Given the description of an element on the screen output the (x, y) to click on. 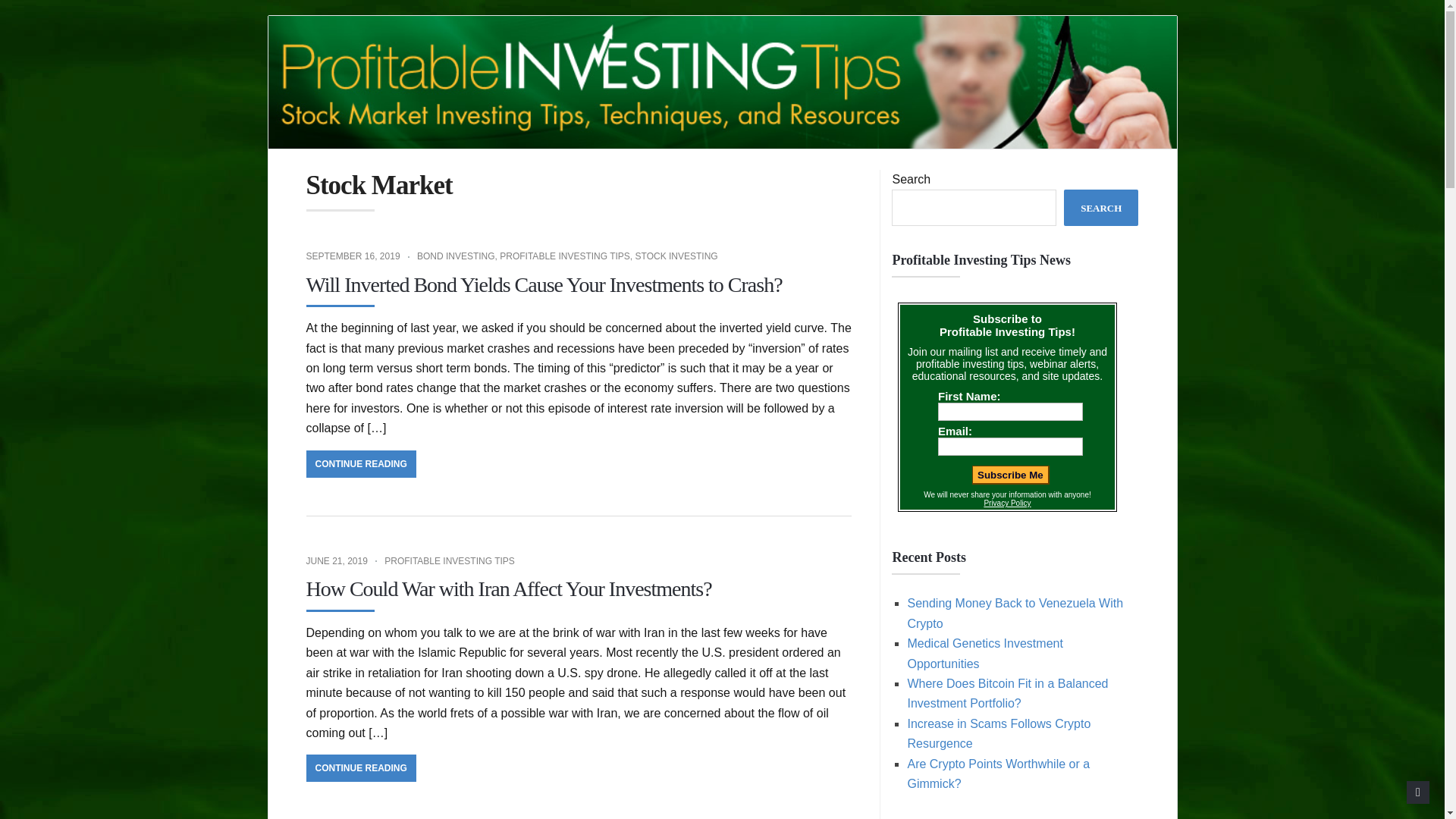
Will Inverted Bond Yields Cause Your Investments to Crash? (544, 284)
Profitable Investing Tips (721, 81)
CONTINUE READING (360, 768)
PROFITABLE INVESTING TIPS (564, 255)
CONTINUE READING (360, 463)
PROFITABLE INVESTING TIPS (449, 561)
BOND INVESTING (455, 255)
STOCK INVESTING (675, 255)
How Could War with Iran Affect Your Investments? (508, 588)
